Given the description of an element on the screen output the (x, y) to click on. 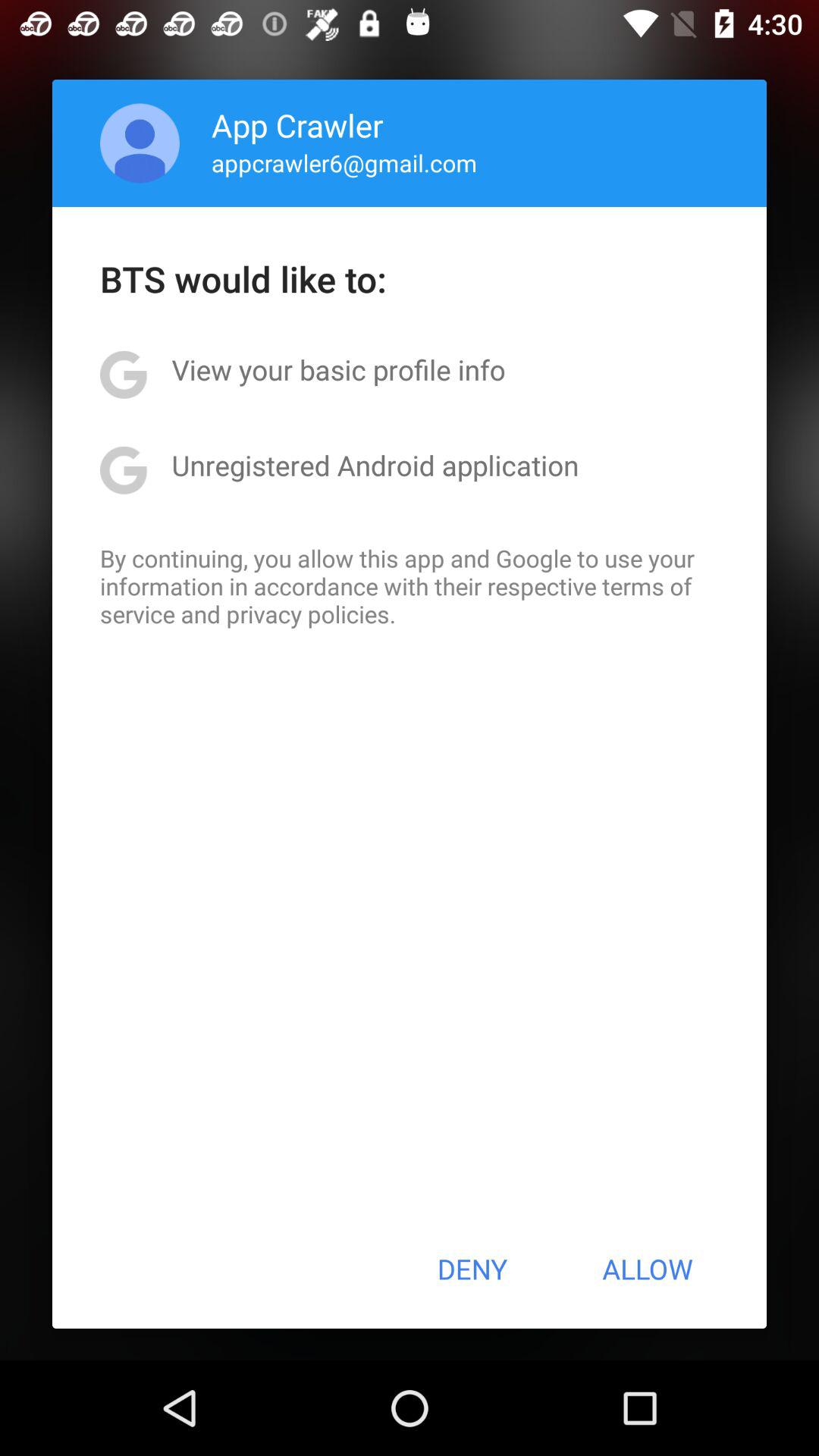
turn off item to the left of the app crawler icon (139, 143)
